Given the description of an element on the screen output the (x, y) to click on. 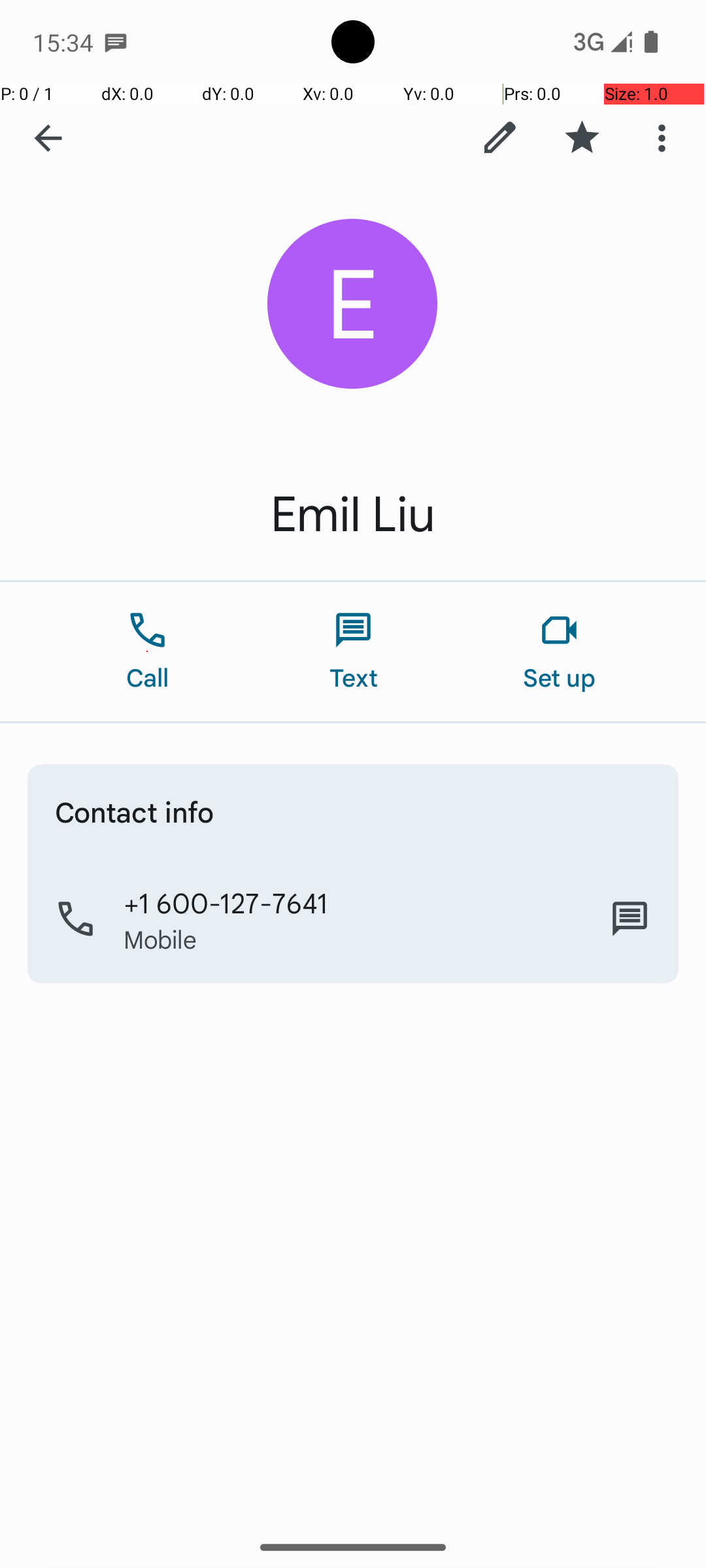
Set up Element type: android.widget.TextView (559, 651)
Emil Liu Element type: android.widget.TextView (352, 514)
Call Mobile +1 600-127-7641 Element type: android.widget.RelativeLayout (352, 919)
+1 600-127-7641 Element type: android.widget.TextView (225, 901)
Text Mobile +1 600-127-7641 Element type: android.widget.Button (629, 919)
SMS Messenger notification: Martin Chen Element type: android.widget.ImageView (115, 41)
